Given the description of an element on the screen output the (x, y) to click on. 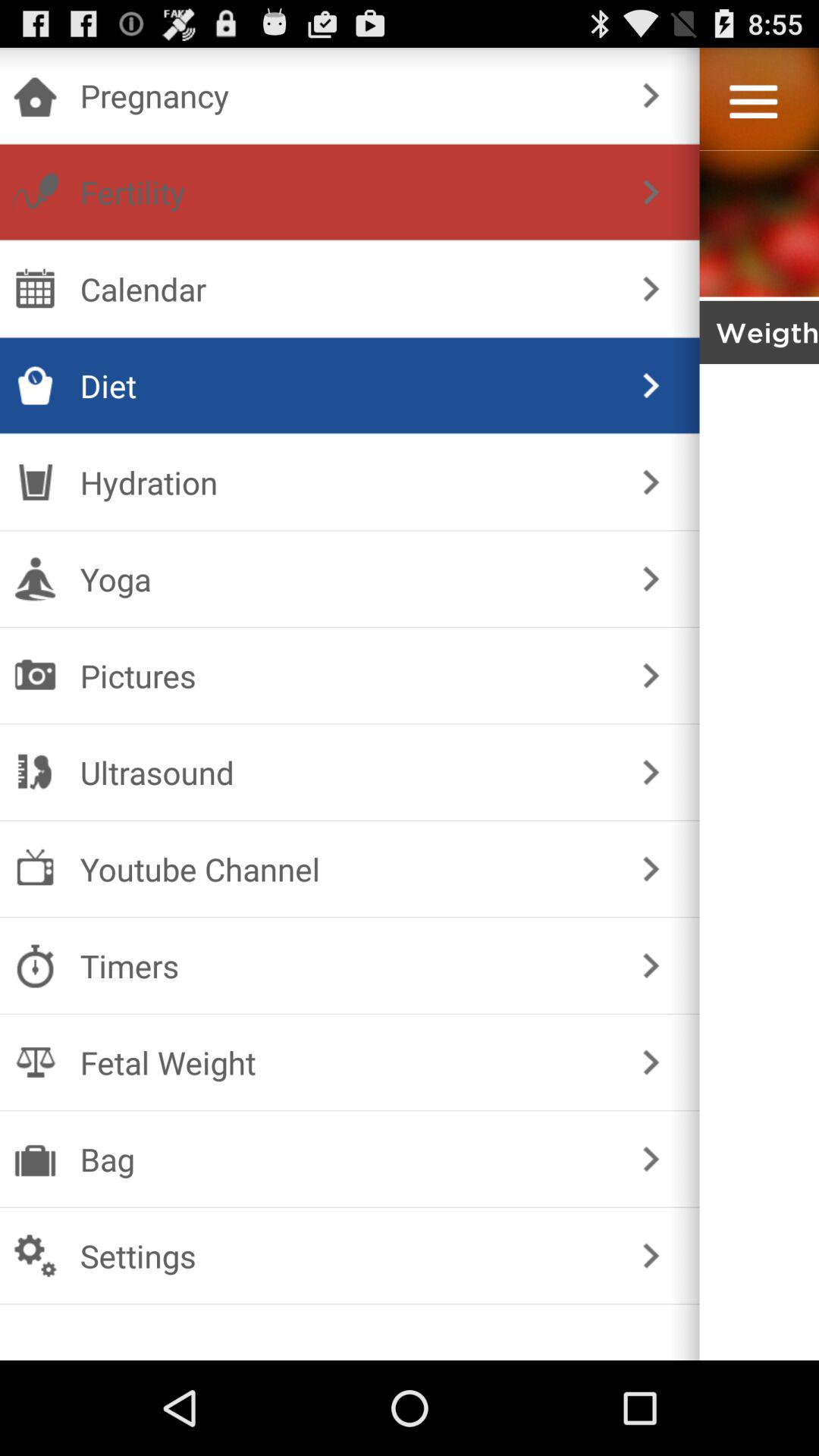
close menu (759, 1306)
